Given the description of an element on the screen output the (x, y) to click on. 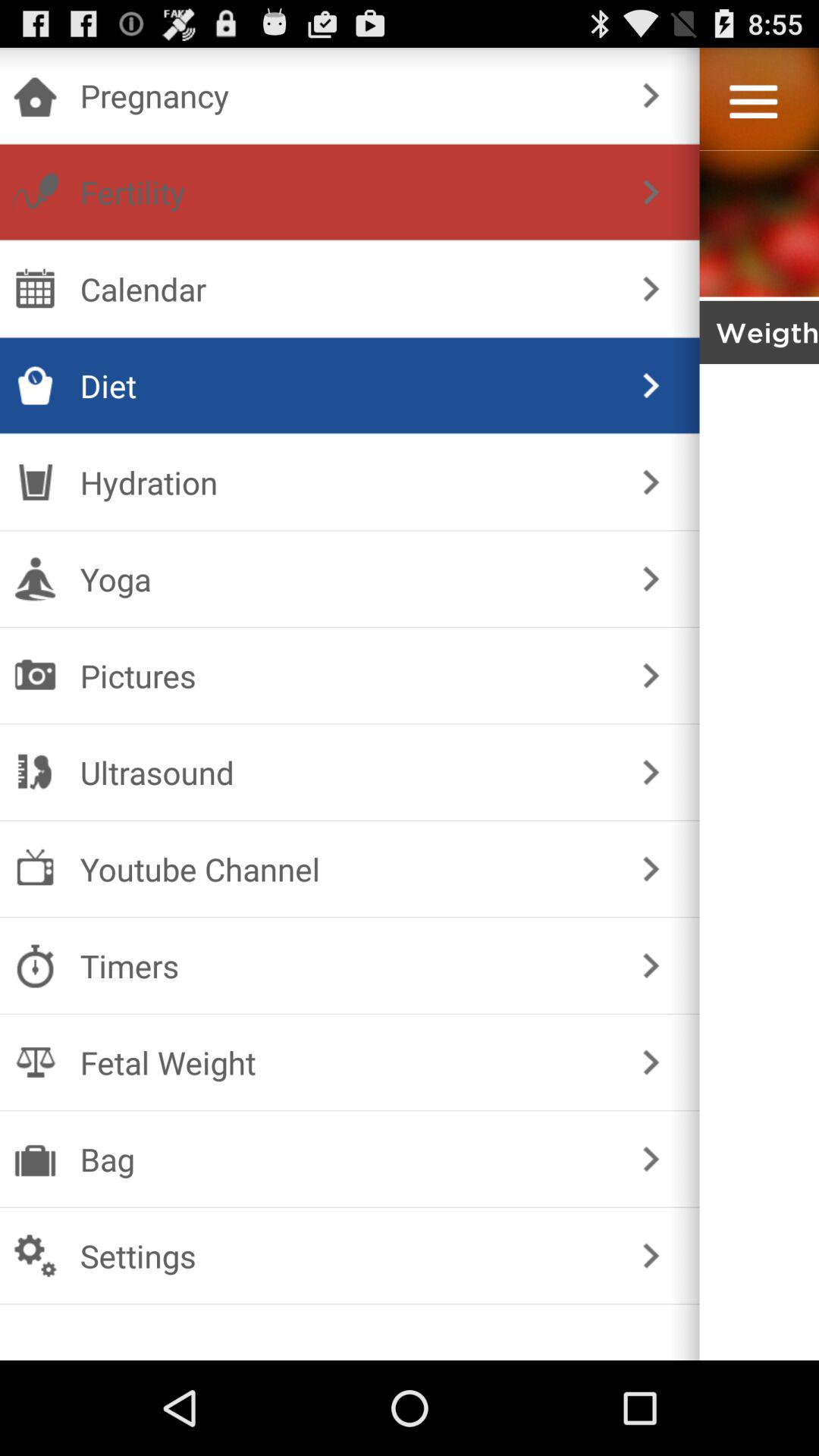
close menu (759, 1306)
